Given the description of an element on the screen output the (x, y) to click on. 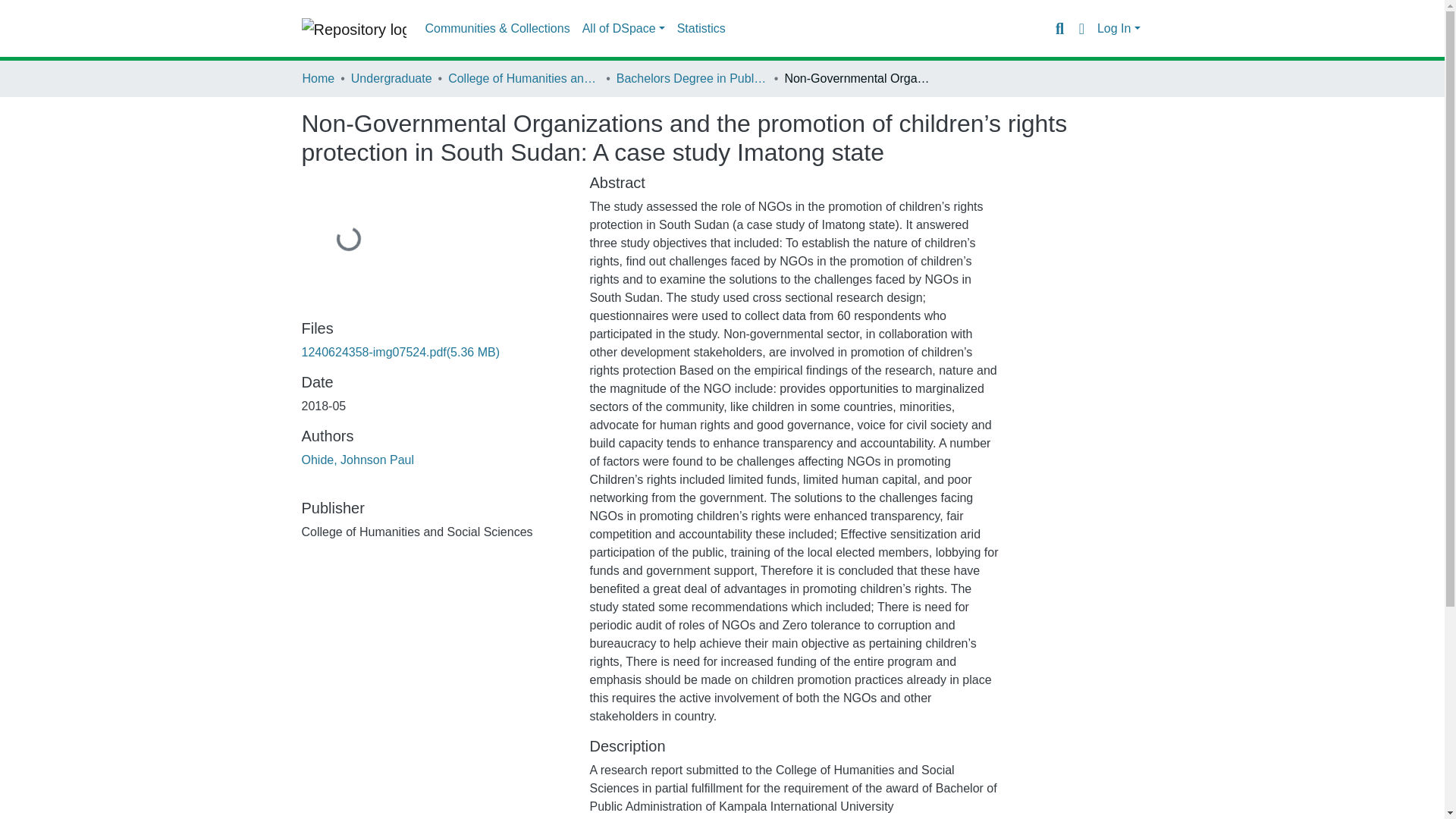
Ohide, Johnson Paul (357, 459)
Bachelors Degree in Public Administration (691, 78)
Statistics (701, 28)
College of Humanities and Social Sciences (523, 78)
Language switch (1081, 28)
All of DSpace (623, 28)
Home (317, 78)
Log In (1118, 28)
Search (1058, 28)
Undergraduate (391, 78)
